Given the description of an element on the screen output the (x, y) to click on. 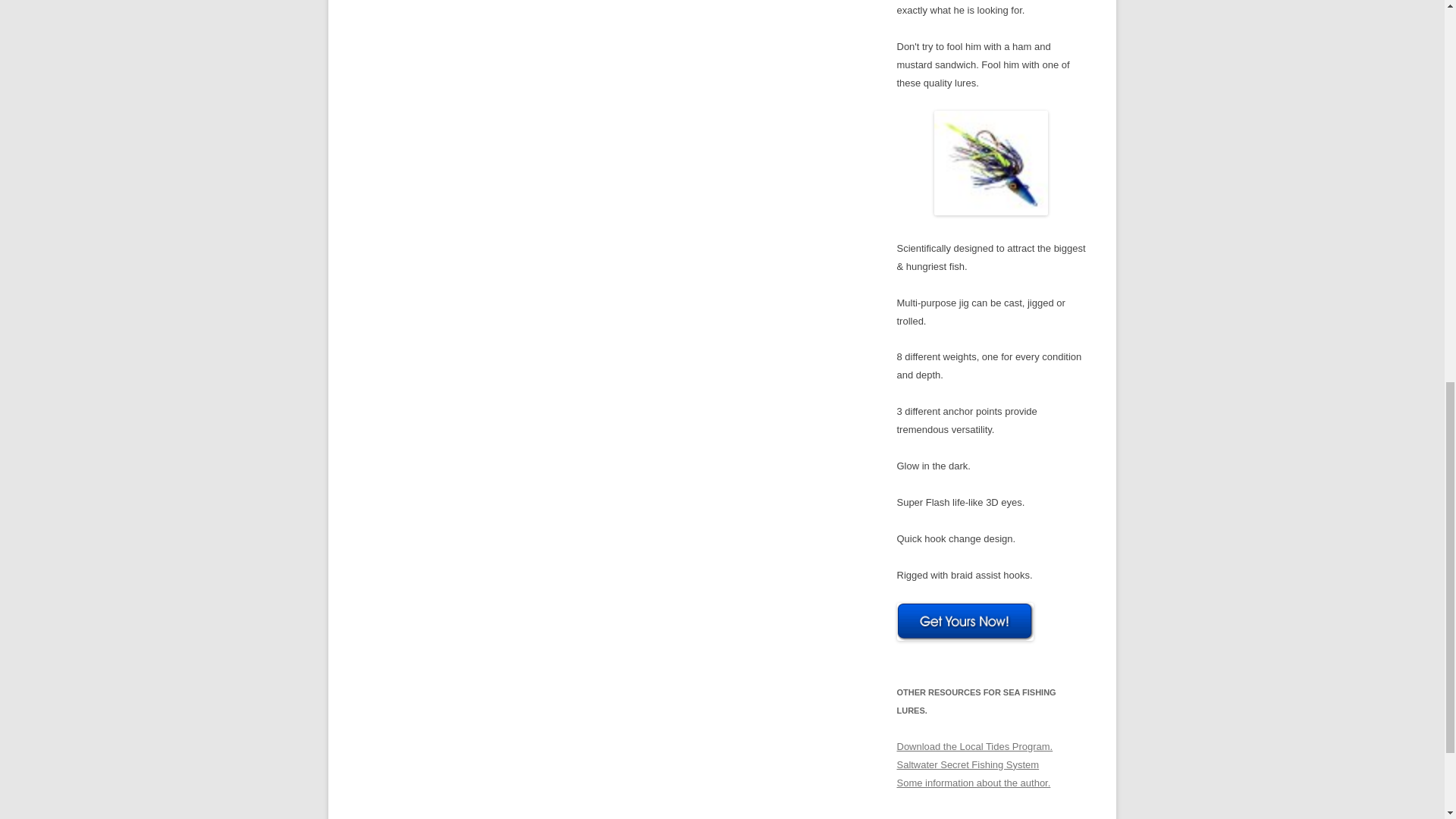
Saltwater Secret Fishing System (967, 764)
Some information about the author. (972, 782)
Download the Local Tides Program. (974, 746)
